Given the description of an element on the screen output the (x, y) to click on. 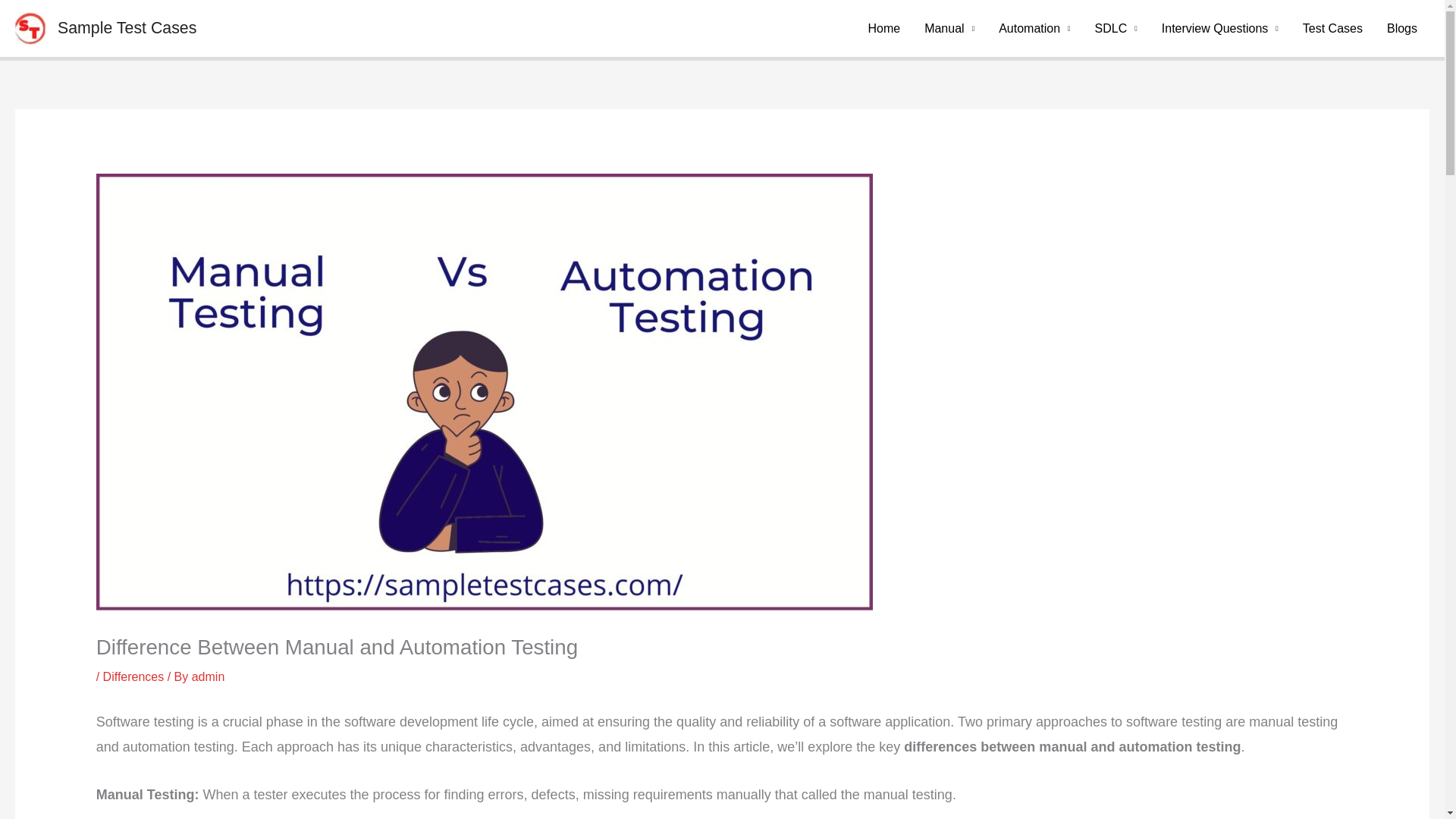
Home (884, 28)
View all posts by admin (208, 676)
Manual (949, 28)
Sample Test Cases (127, 27)
Automation (1034, 28)
Differences (133, 676)
Test Cases (1332, 28)
SDLC (1116, 28)
admin (208, 676)
Blogs (1401, 28)
